Given the description of an element on the screen output the (x, y) to click on. 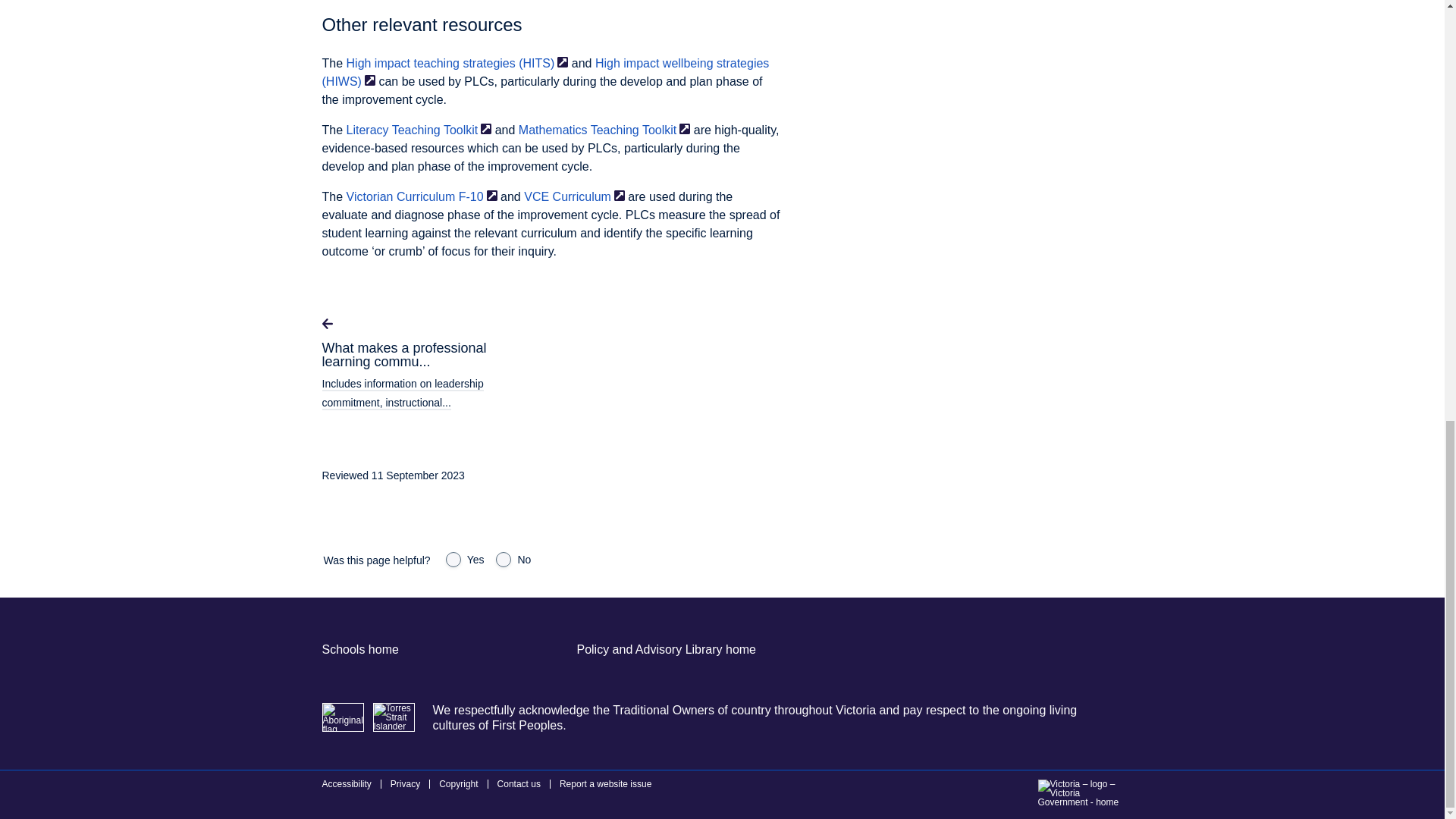
Policy and Advisory Library home (665, 649)
Privacy (405, 783)
VCE CurriculumExternal Link (574, 196)
No (503, 559)
External Link (486, 128)
External Link (491, 195)
Mathematics Teaching ToolkitExternal Link (604, 129)
Victorian Curriculum F-10External Link (421, 196)
External Link (562, 61)
Schools home (359, 649)
